Given the description of an element on the screen output the (x, y) to click on. 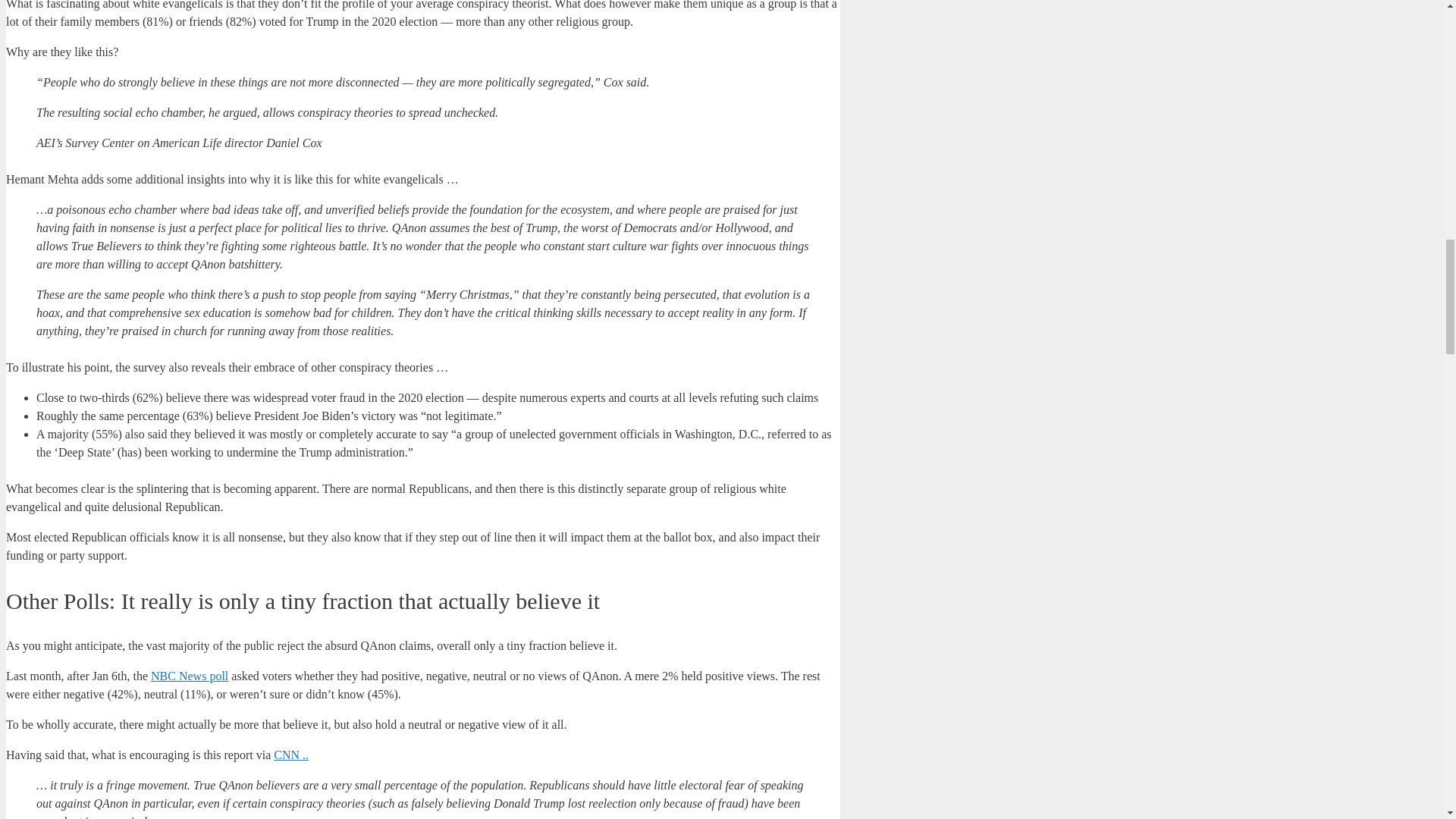
CNN .. (290, 754)
NBC News poll (189, 675)
